Given the description of an element on the screen output the (x, y) to click on. 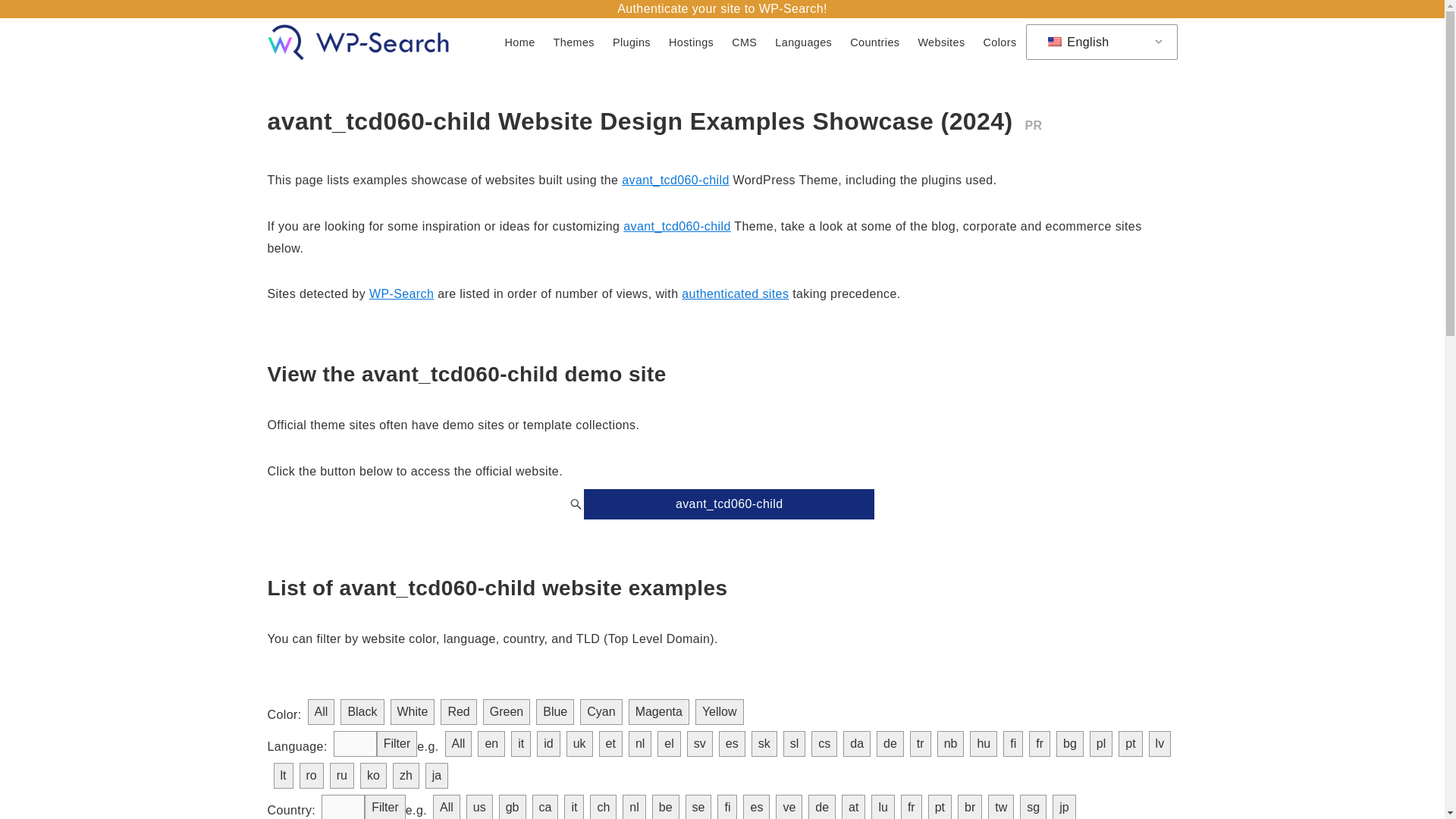
Languages (803, 42)
Themes (574, 42)
Colors (1000, 42)
English (1097, 41)
Plugins (631, 42)
Hostings (690, 42)
Green (506, 711)
Cyan (600, 711)
Countries (874, 42)
All (320, 711)
